Given the description of an element on the screen output the (x, y) to click on. 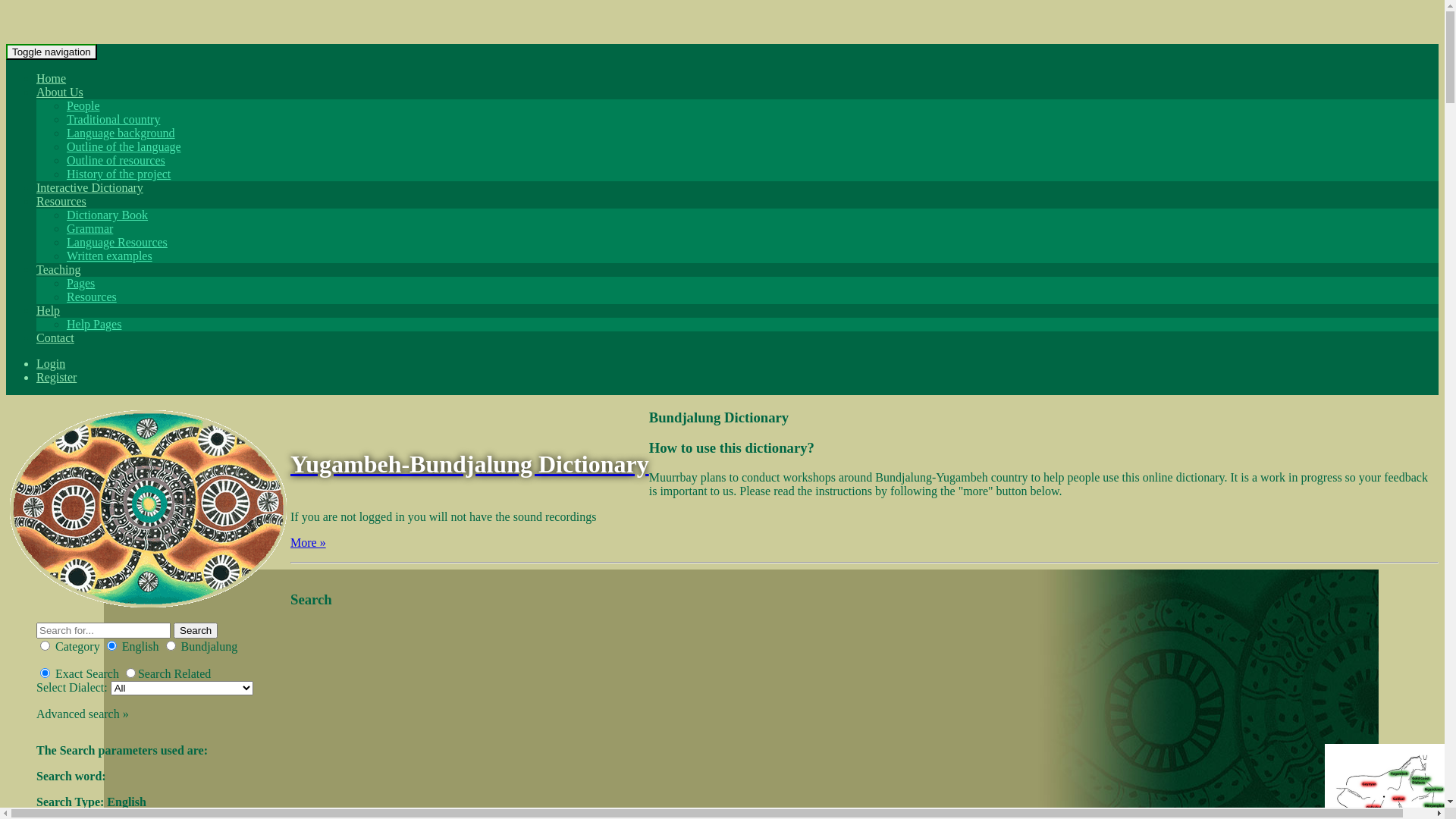
Outline of the language Element type: text (123, 146)
Resources Element type: text (61, 200)
History of the project Element type: text (118, 173)
Login Element type: text (50, 363)
Toggle navigation Element type: text (51, 51)
Help Pages Element type: text (93, 323)
Dictionary Book Element type: text (106, 214)
Pages Element type: text (80, 282)
Language Resources Element type: text (116, 241)
Language background Element type: text (120, 132)
Grammar Element type: text (89, 228)
Traditional country Element type: text (113, 118)
Outline of resources Element type: text (115, 159)
Home Element type: text (50, 78)
Teaching Element type: text (58, 269)
Register Element type: text (56, 376)
About Us Element type: text (59, 91)
Help Element type: text (47, 310)
Search Element type: text (195, 630)
Contact Element type: text (55, 337)
People Element type: text (83, 105)
Yugambeh-Bundjalung Dictionary Element type: text (469, 464)
Written examples Element type: text (109, 255)
Resources Element type: text (91, 296)
Interactive Dictionary Element type: text (89, 187)
